Given the description of an element on the screen output the (x, y) to click on. 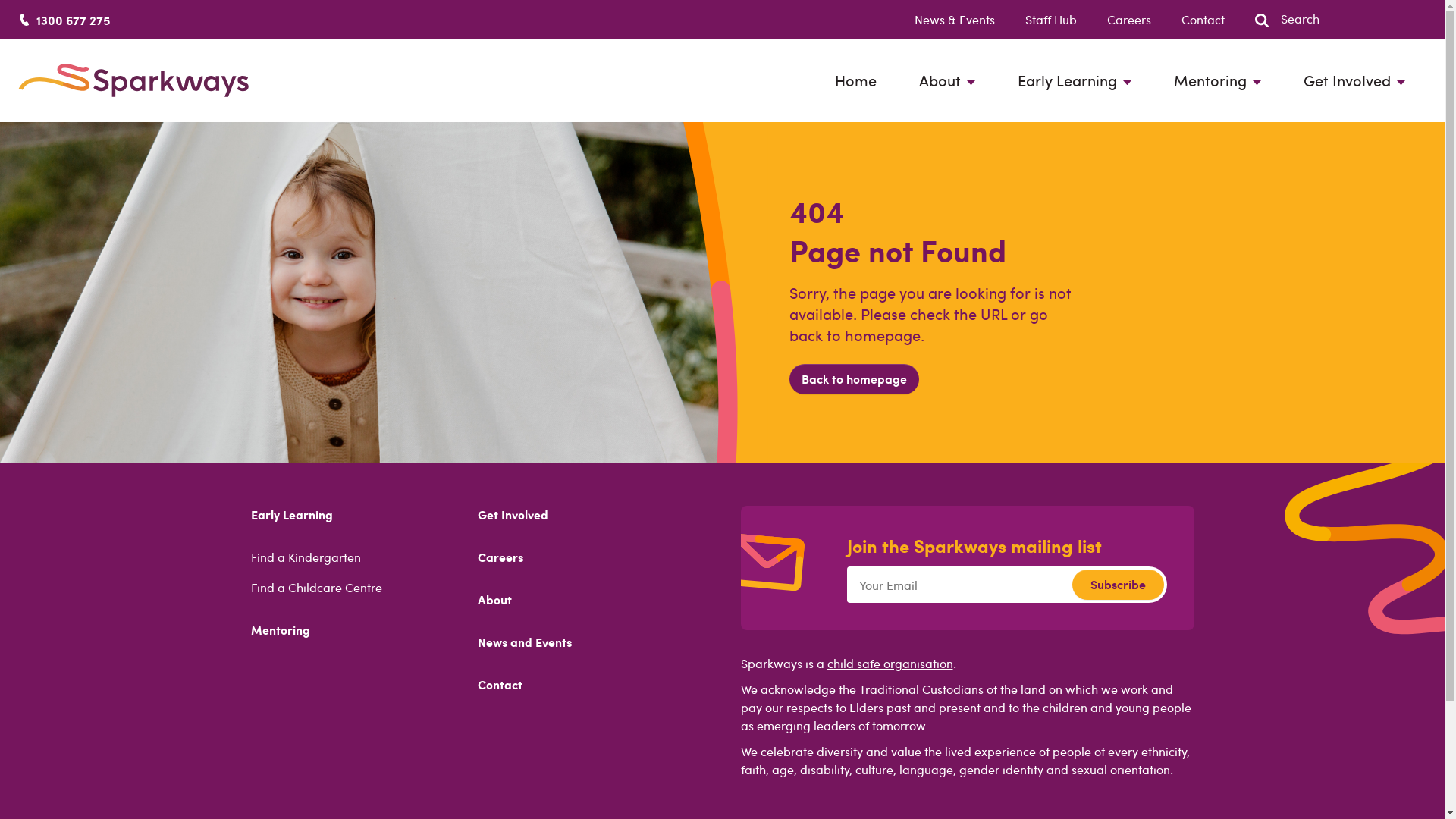
Get Involved Element type: text (1354, 80)
About Element type: text (494, 599)
News & Events Element type: text (939, 19)
Get Involved Element type: text (512, 514)
News and Events Element type: text (524, 641)
1300 677 275 Element type: text (72, 20)
Find a Kindergarten Element type: text (305, 556)
Find a Childcare Centre Element type: text (315, 587)
Contact Element type: text (1187, 19)
Mentoring Element type: text (279, 629)
Mentoring Element type: text (1217, 80)
About Element type: text (947, 80)
Home Element type: text (855, 80)
Subscribe Element type: text (1118, 584)
Early Learning Element type: text (291, 514)
Careers Element type: text (500, 556)
Staff Hub Element type: text (1035, 19)
Sparkways logo Element type: text (133, 80)
child safe organisation Element type: text (889, 663)
Back to homepage Element type: text (853, 379)
Early Learning Element type: text (1074, 80)
Careers Element type: text (1113, 19)
Contact Element type: text (499, 684)
